Given the description of an element on the screen output the (x, y) to click on. 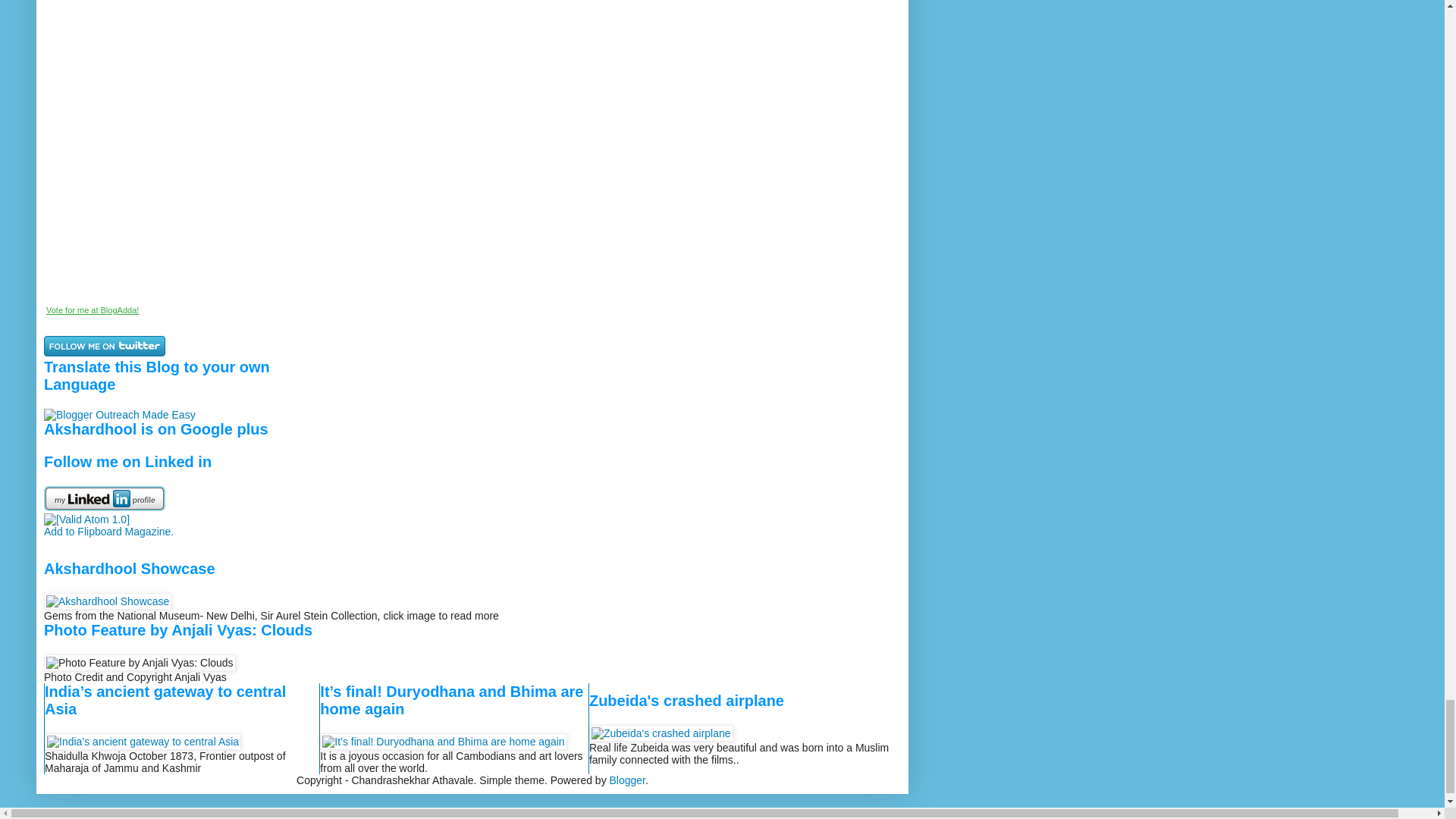
Blogger Outreach Made Easy (119, 414)
Validate my Atom 1.0 feed (86, 519)
